Given the description of an element on the screen output the (x, y) to click on. 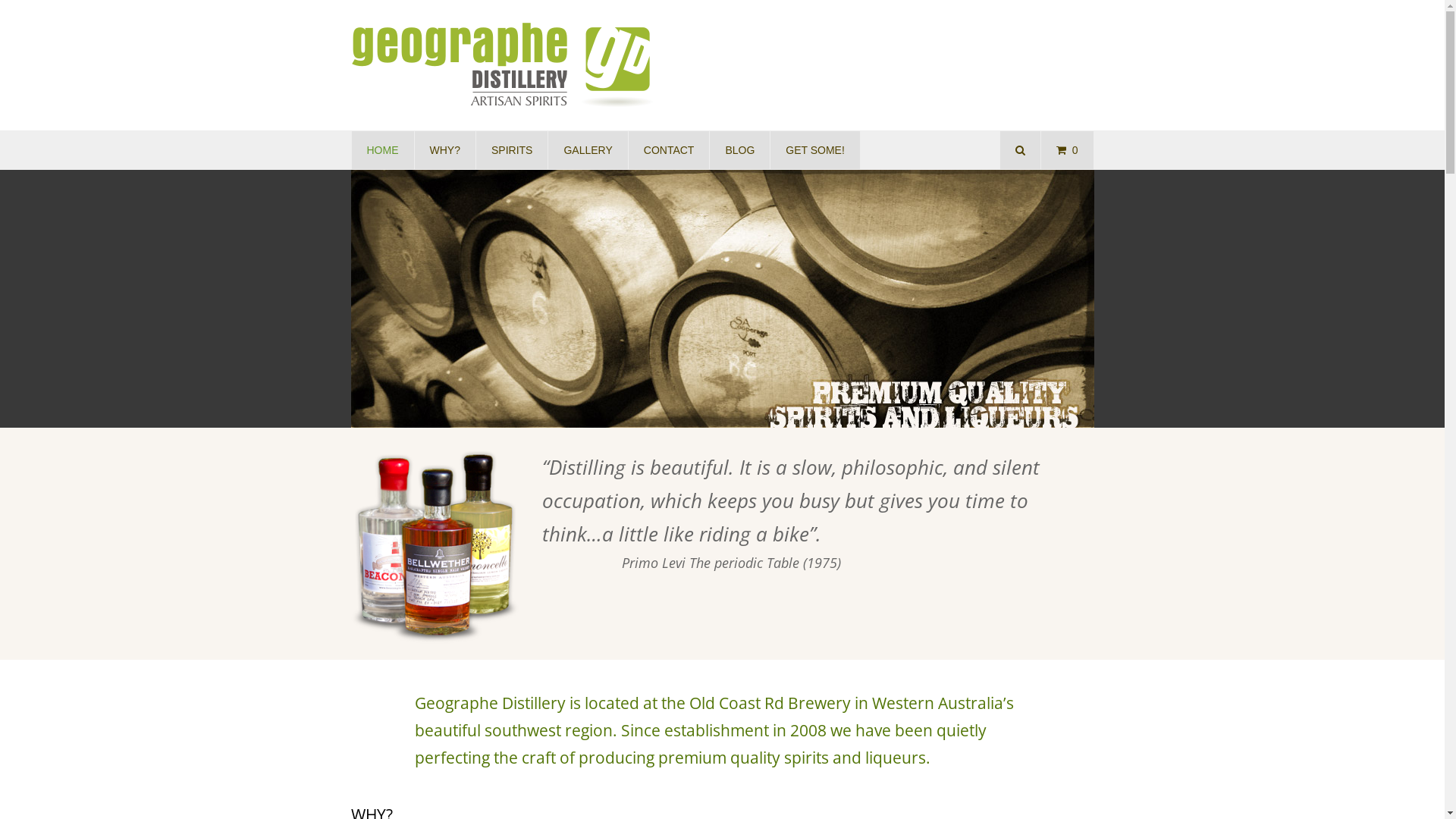
SPIRITS Element type: text (511, 150)
0 Element type: text (1067, 150)
WHY? Element type: text (444, 150)
GALLERY Element type: text (587, 150)
BLOG Element type: text (739, 150)
HOME Element type: text (382, 150)
GET SOME! Element type: text (814, 150)
Geographe Distillery Element type: hover (501, 64)
CONTACT Element type: text (668, 150)
